Given the description of an element on the screen output the (x, y) to click on. 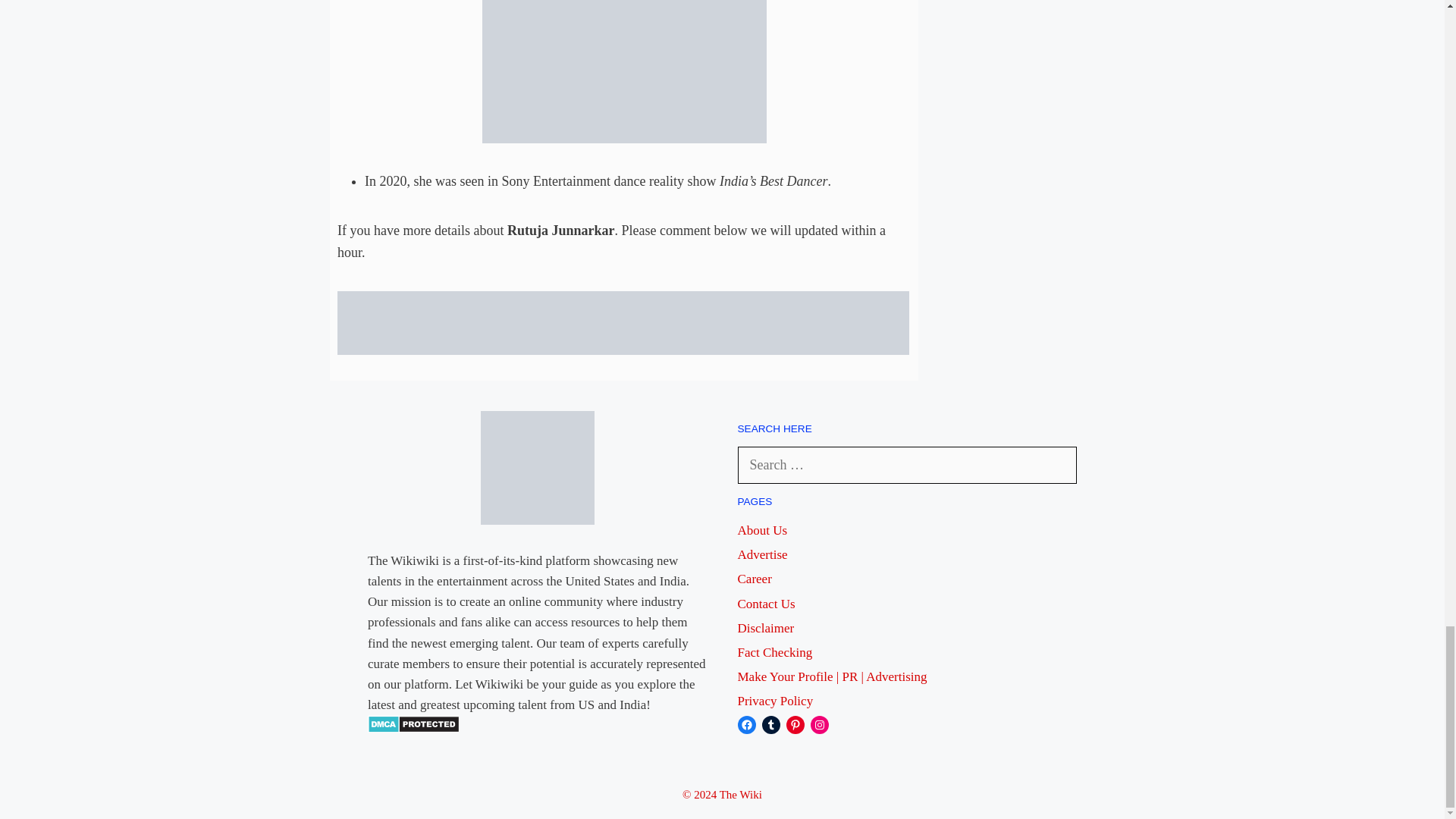
Search for: (906, 465)
DMCA.com Protection Status (414, 728)
